Given the description of an element on the screen output the (x, y) to click on. 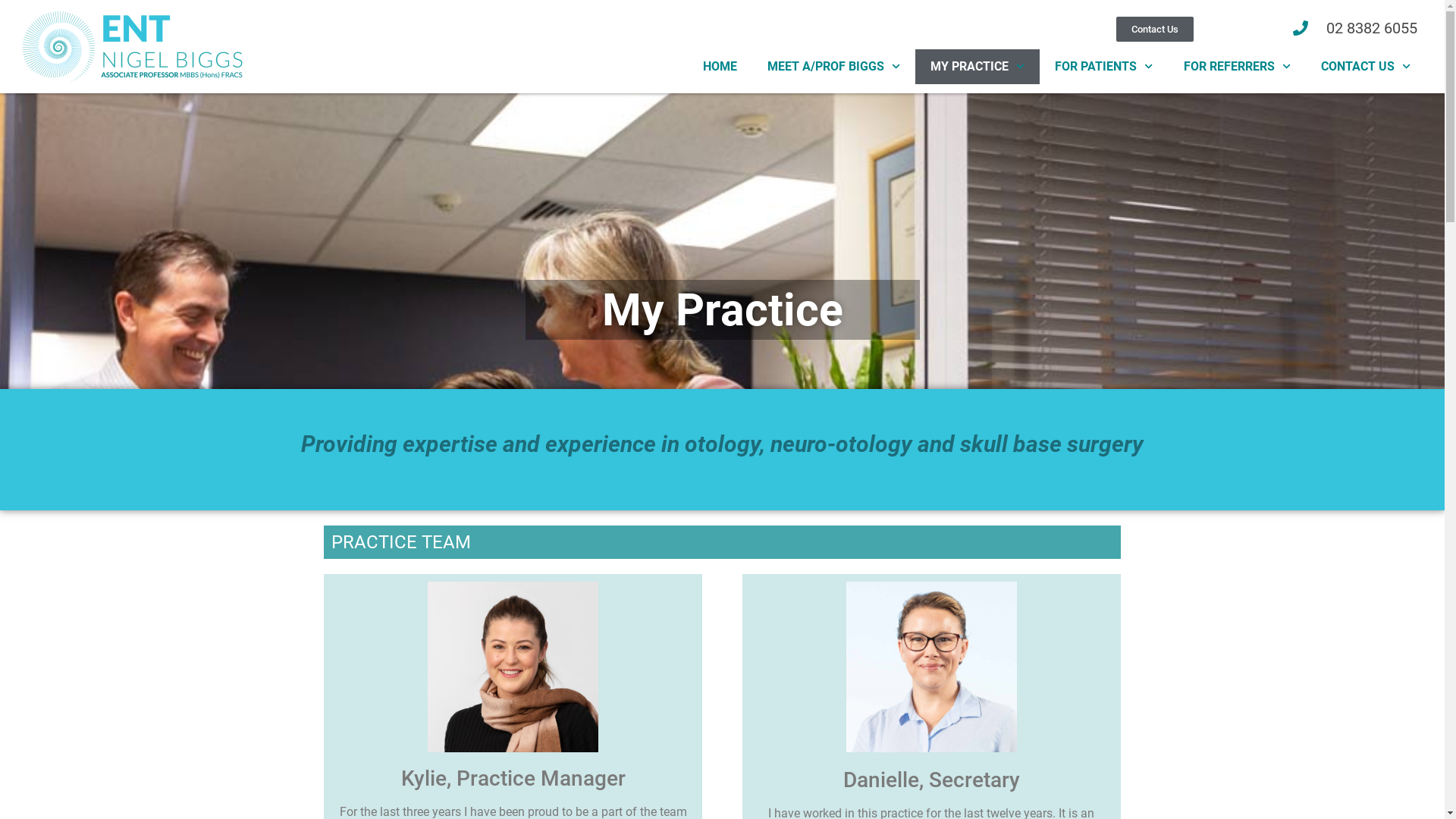
FOR PATIENTS Element type: text (1103, 66)
MEET A/PROF BIGGS Element type: text (833, 66)
FOR REFERRERS Element type: text (1236, 66)
MY PRACTICE Element type: text (977, 66)
CONTACT US Element type: text (1365, 66)
HOME Element type: text (719, 66)
02 8382 6055 Element type: text (1312, 27)
Contact Us Element type: text (1154, 28)
